Given the description of an element on the screen output the (x, y) to click on. 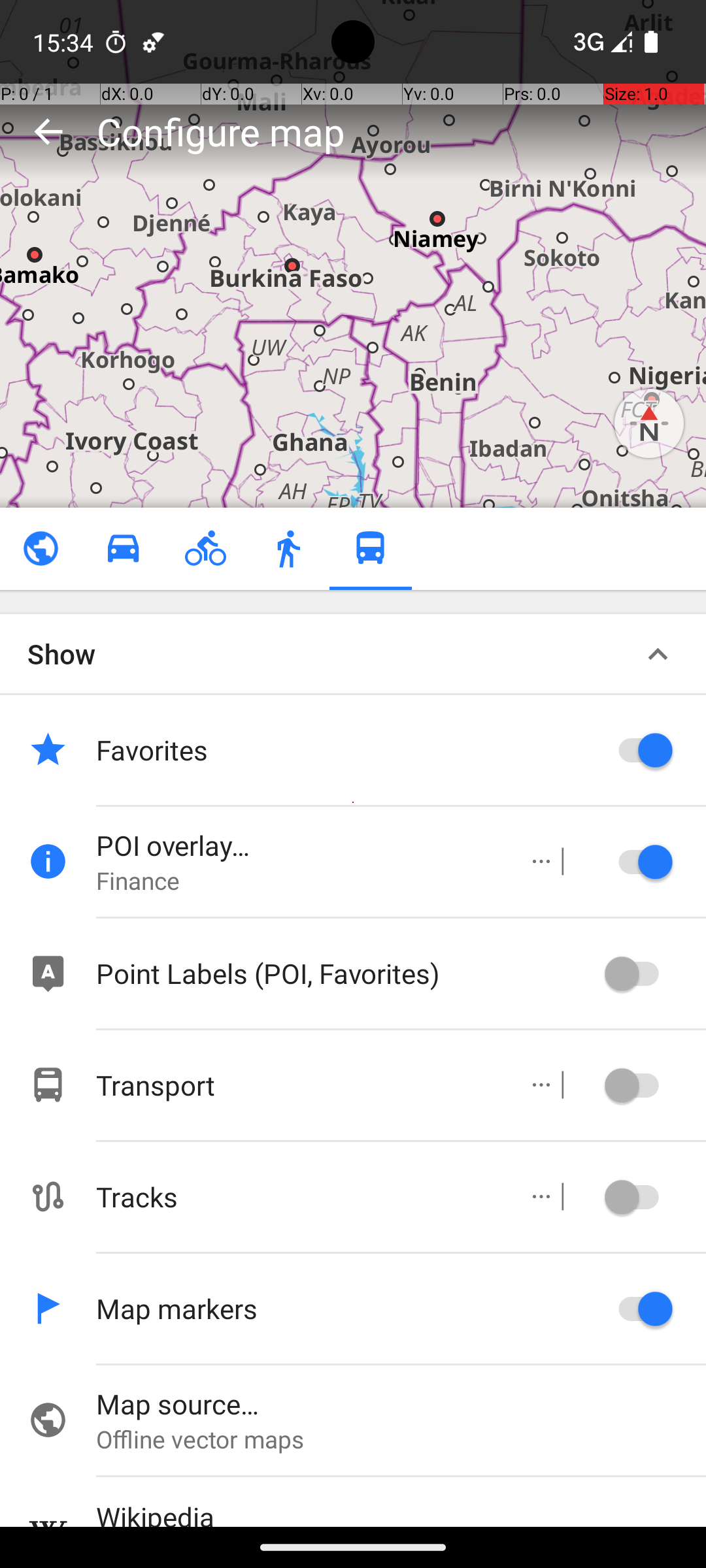
Back to map Element type: android.widget.ImageButton (48, 131)
Browse map unchecked Element type: android.widget.ImageView (40, 548)
Public transport checked Element type: android.widget.ImageView (369, 548)
Show Element type: android.widget.TextView (61, 653)
POI overlay… Element type: android.widget.TextView (298, 844)
Point Labels (POI, Favorites) Element type: android.widget.TextView (346, 972)
Transport Element type: android.widget.TextView (298, 1084)
Map source… Element type: android.widget.TextView (401, 1403)
Offline vector maps Element type: android.widget.TextView (401, 1438)
